Given the description of an element on the screen output the (x, y) to click on. 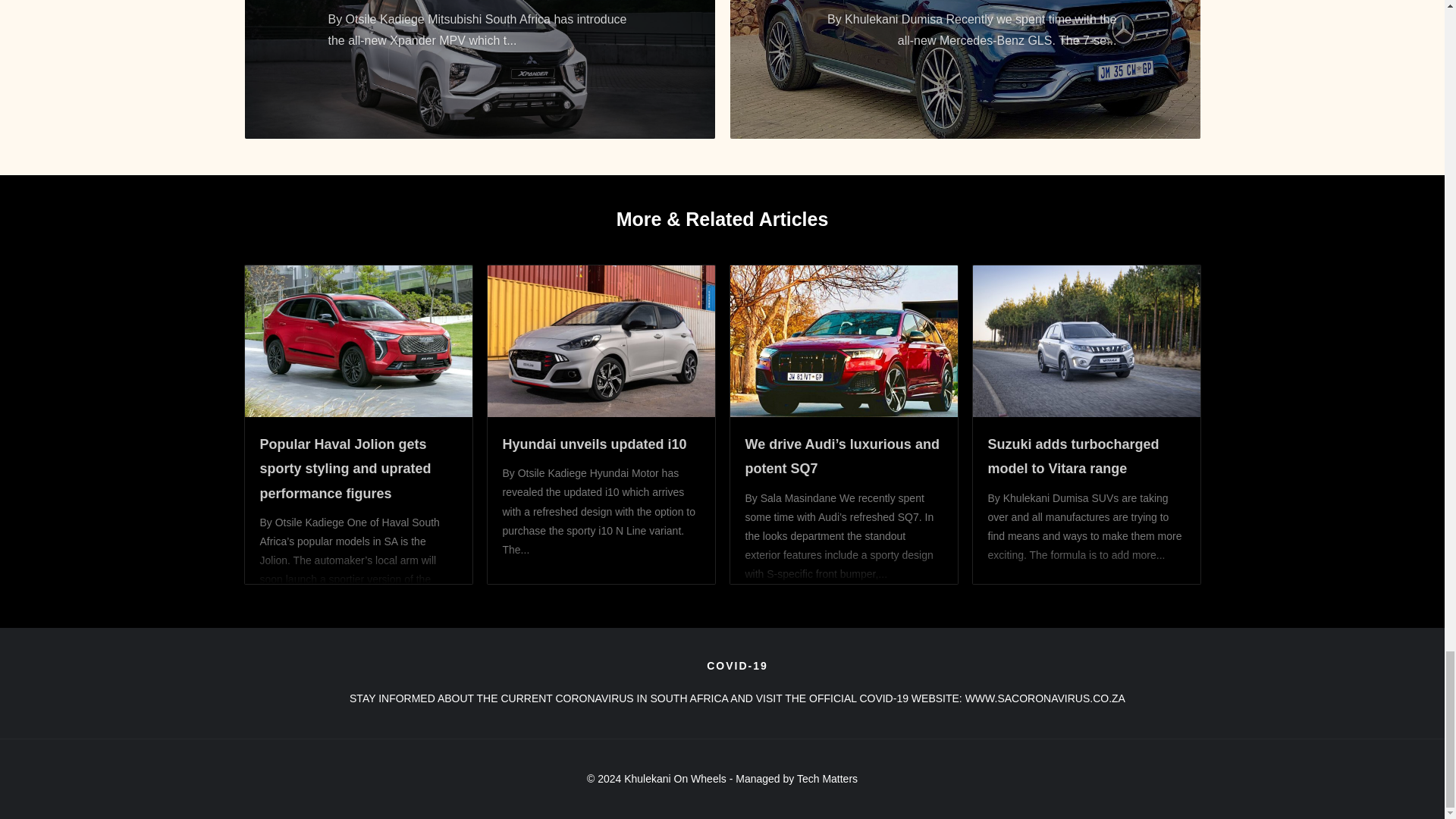
Tech Matters (826, 778)
